Given the description of an element on the screen output the (x, y) to click on. 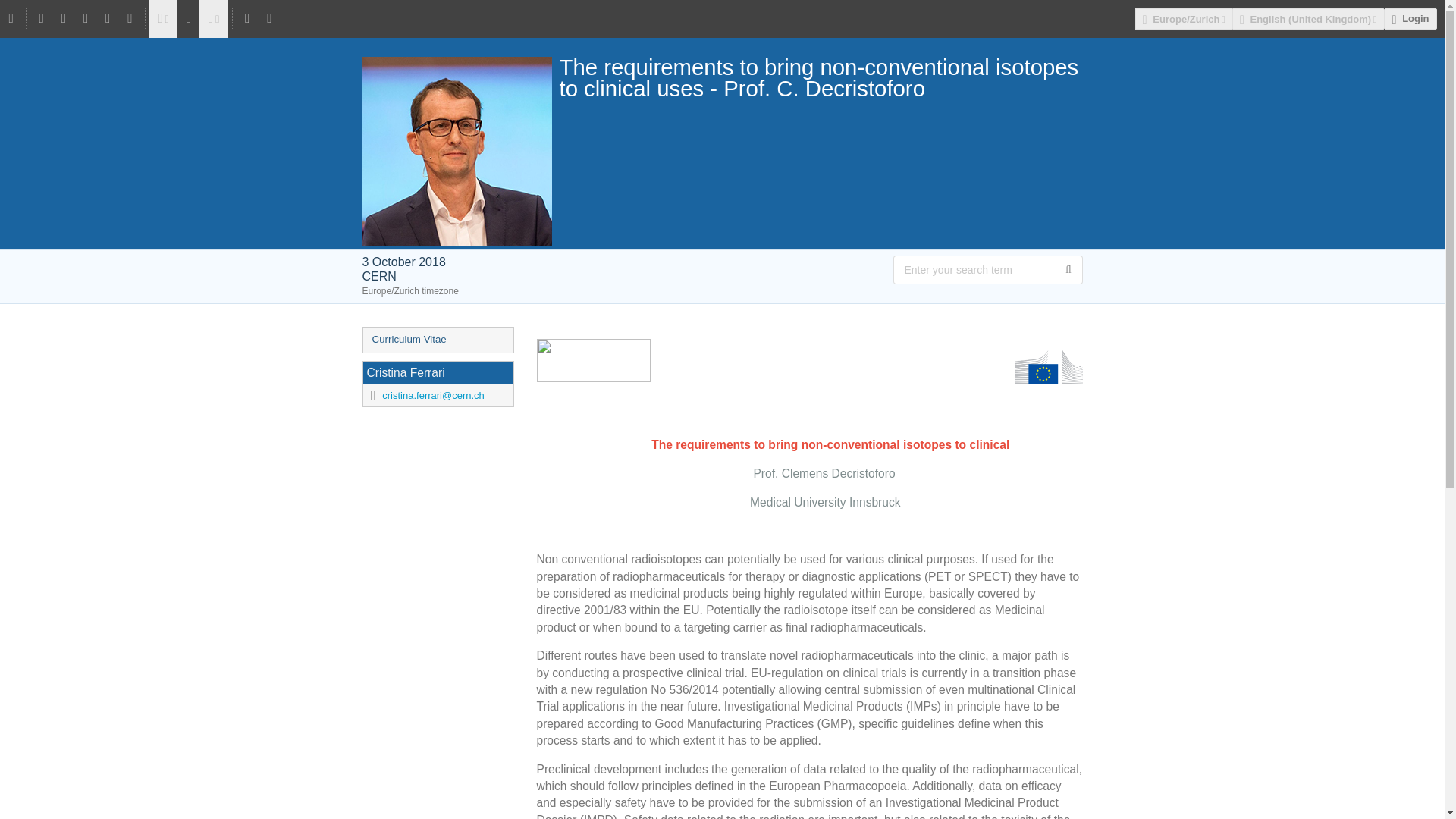
Curriculum Vitae (437, 339)
Login (1410, 19)
